Given the description of an element on the screen output the (x, y) to click on. 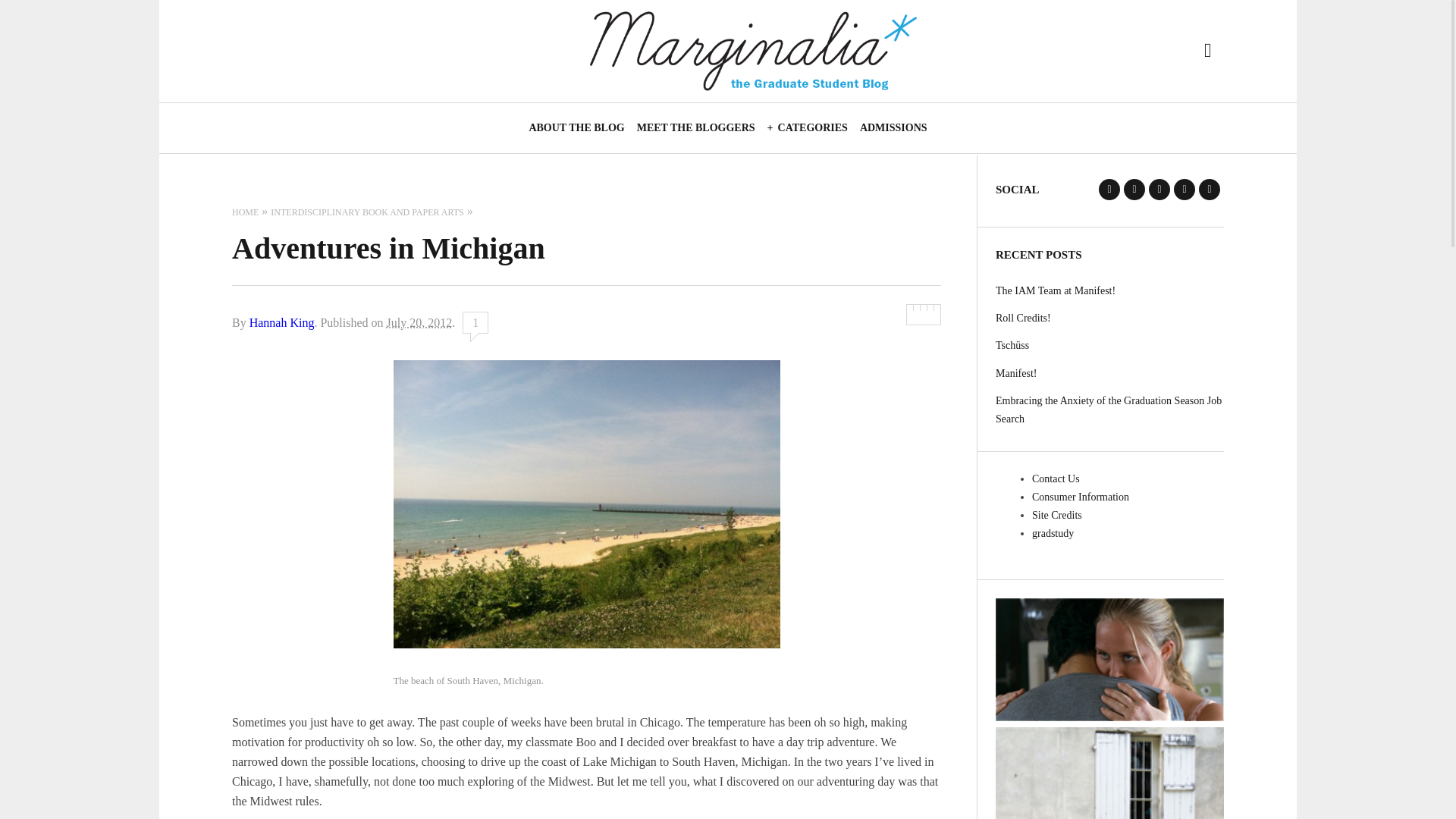
Marginalia (752, 51)
2012-07-20T08:00:42-05:00 (419, 321)
CATEGORIES (806, 128)
ABOUT THE BLOG (576, 128)
ADMISSIONS (893, 128)
MEET THE BLOGGERS (695, 128)
1 (475, 321)
HOME (245, 212)
Posts by Hannah King (281, 321)
Hannah King (281, 321)
INTERDISCIPLINARY BOOK AND PAPER ARTS (366, 212)
